Given the description of an element on the screen output the (x, y) to click on. 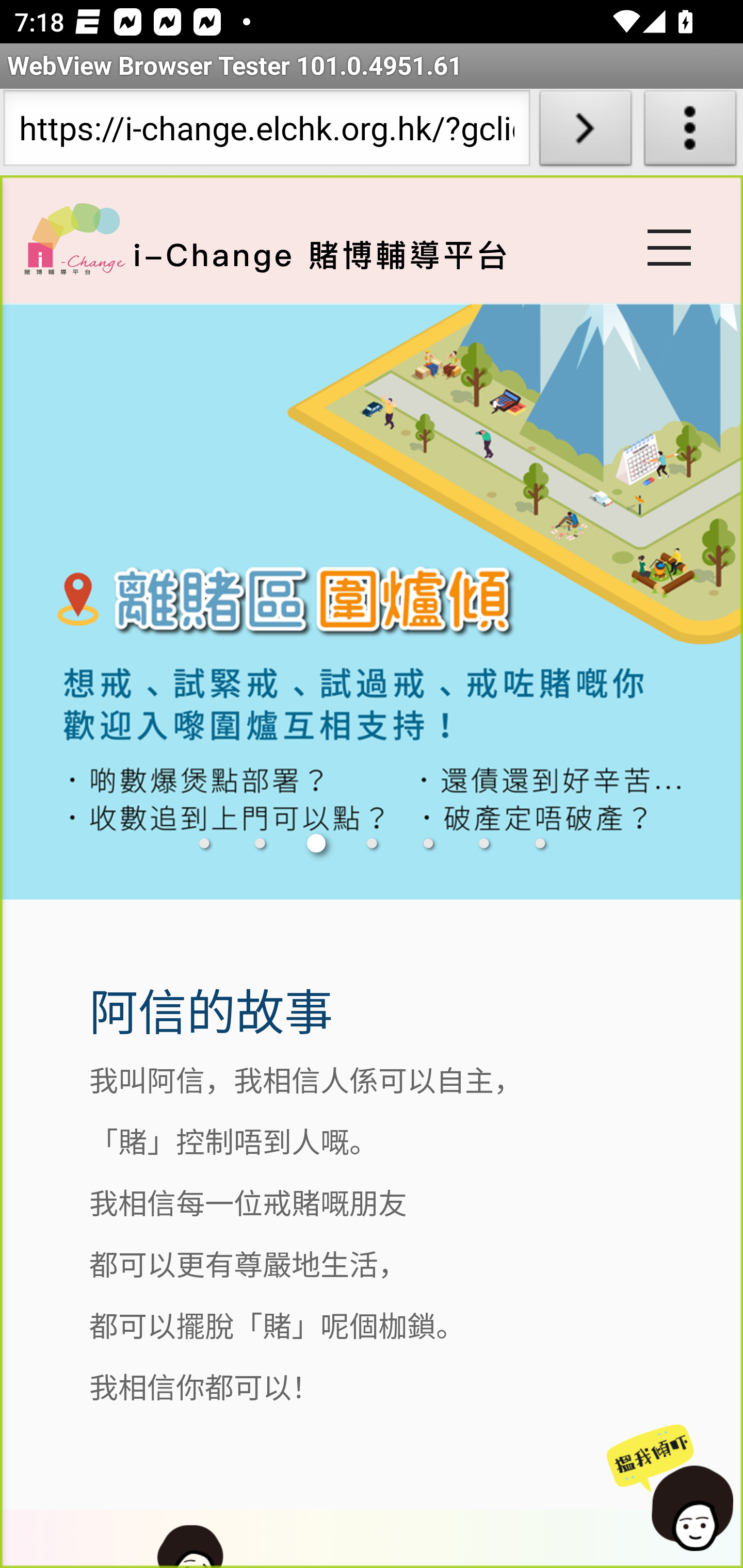
Load URL (585, 132)
About WebView (690, 132)
Home (74, 238)
Chat Now (667, 1488)
